Given the description of an element on the screen output the (x, y) to click on. 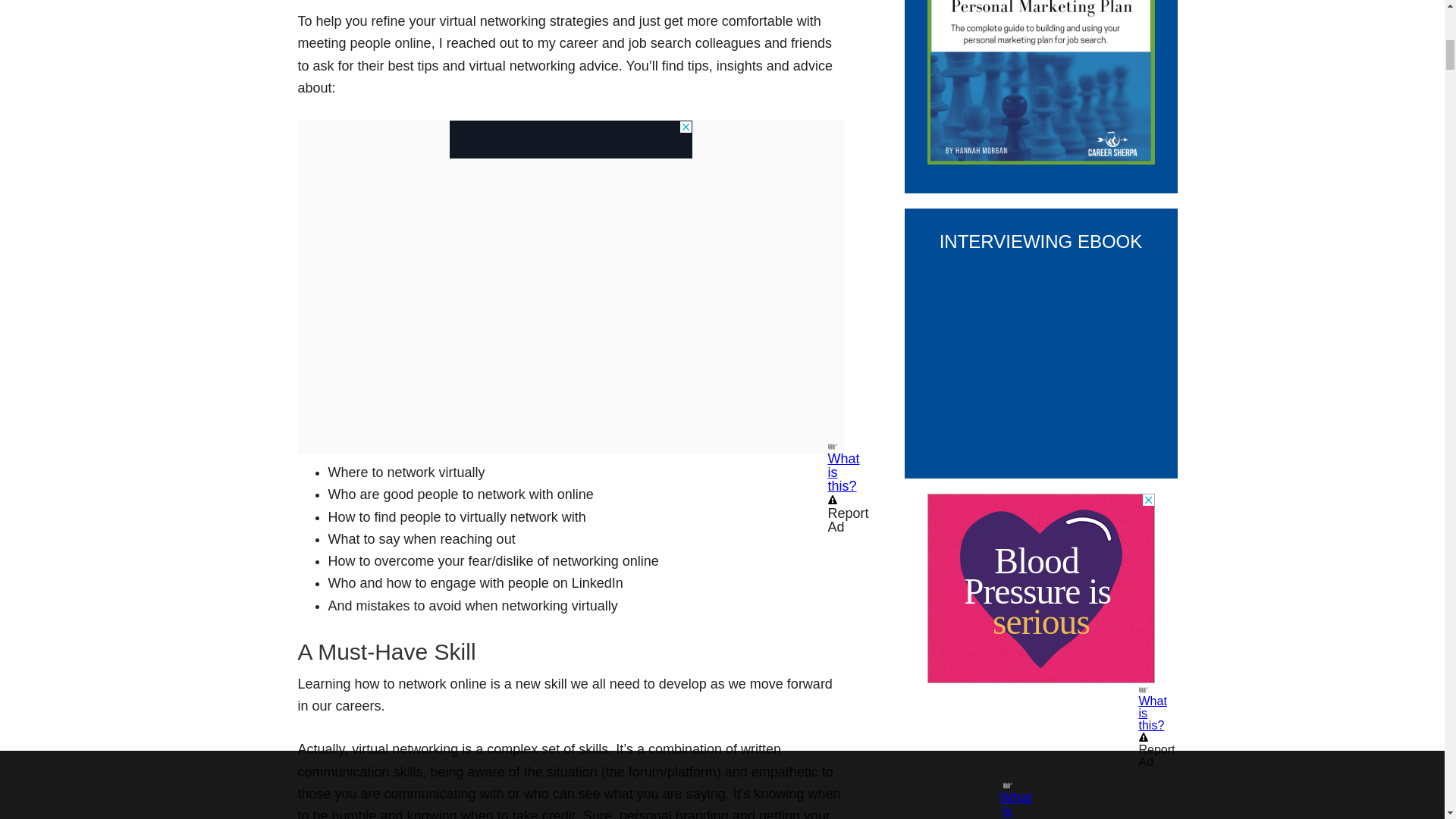
3rd party ad content (569, 139)
3rd party ad content (1040, 588)
